Given the description of an element on the screen output the (x, y) to click on. 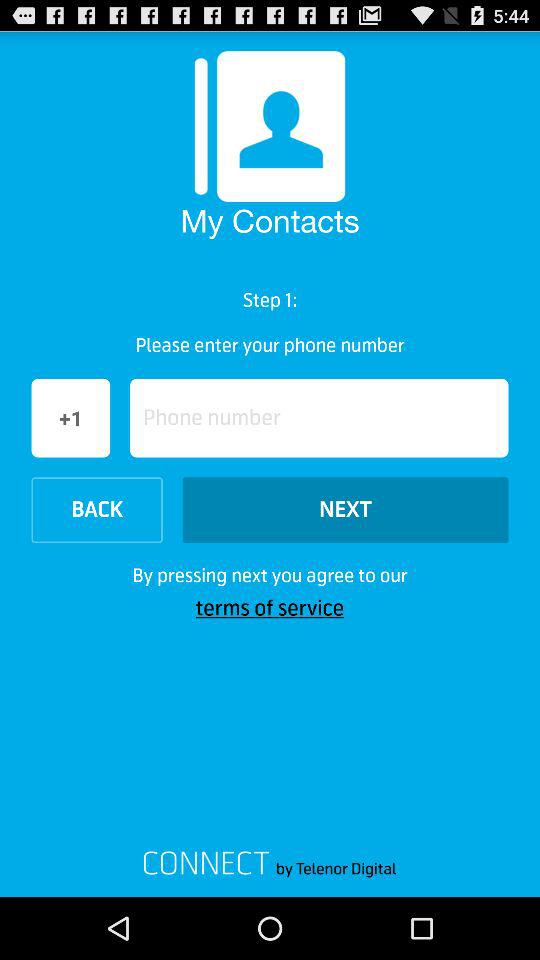
launch icon below the +1 button (96, 510)
